Given the description of an element on the screen output the (x, y) to click on. 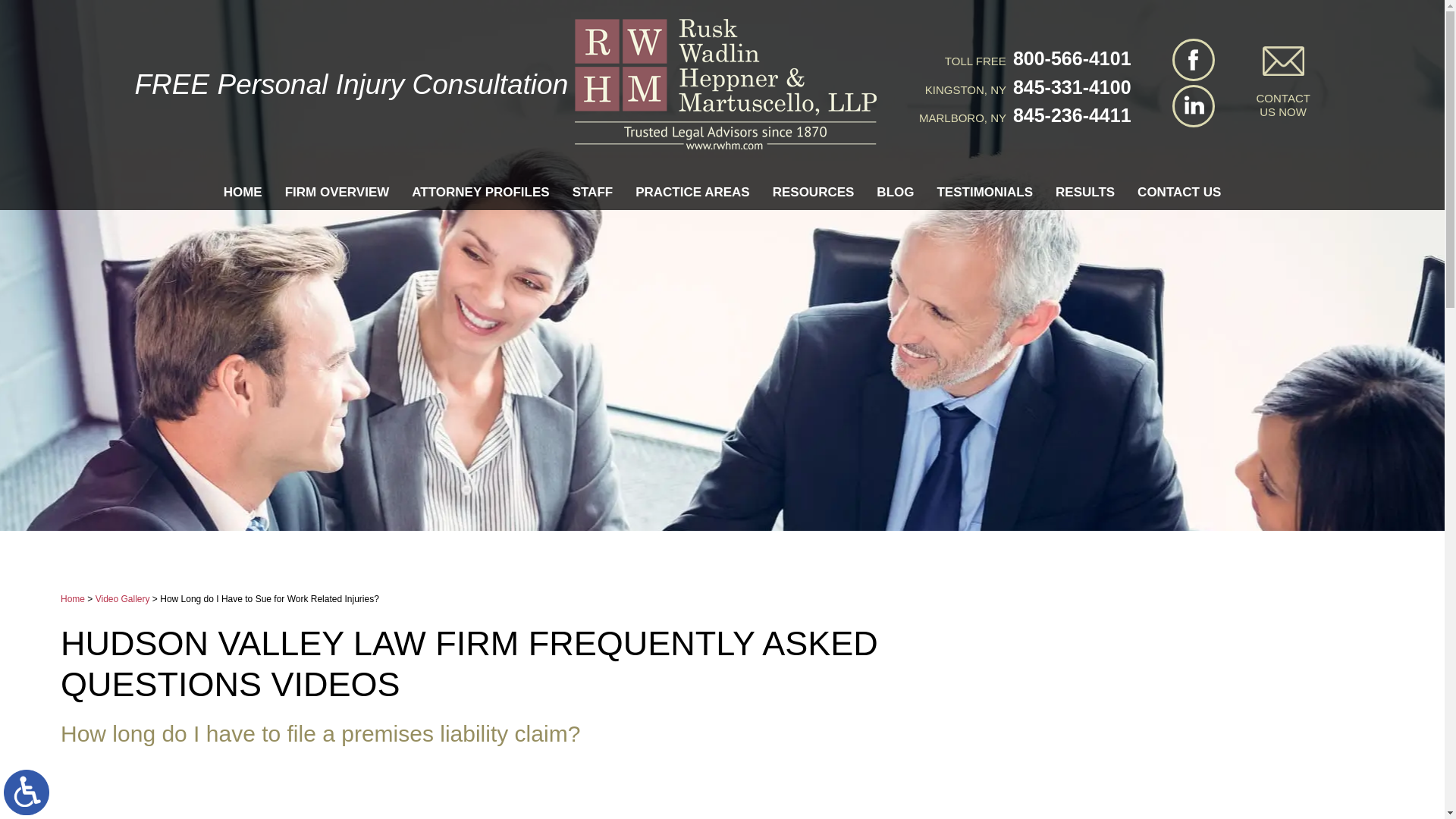
Switch to ADA Accessible Theme (26, 791)
HOME (242, 192)
845-331-4100 (1070, 86)
PRACTICE AREAS (692, 192)
845-236-4411 (1070, 115)
STAFF (593, 192)
800-566-4101 (1070, 57)
FIRM OVERVIEW (337, 192)
ATTORNEY PROFILES (480, 192)
